Given the description of an element on the screen output the (x, y) to click on. 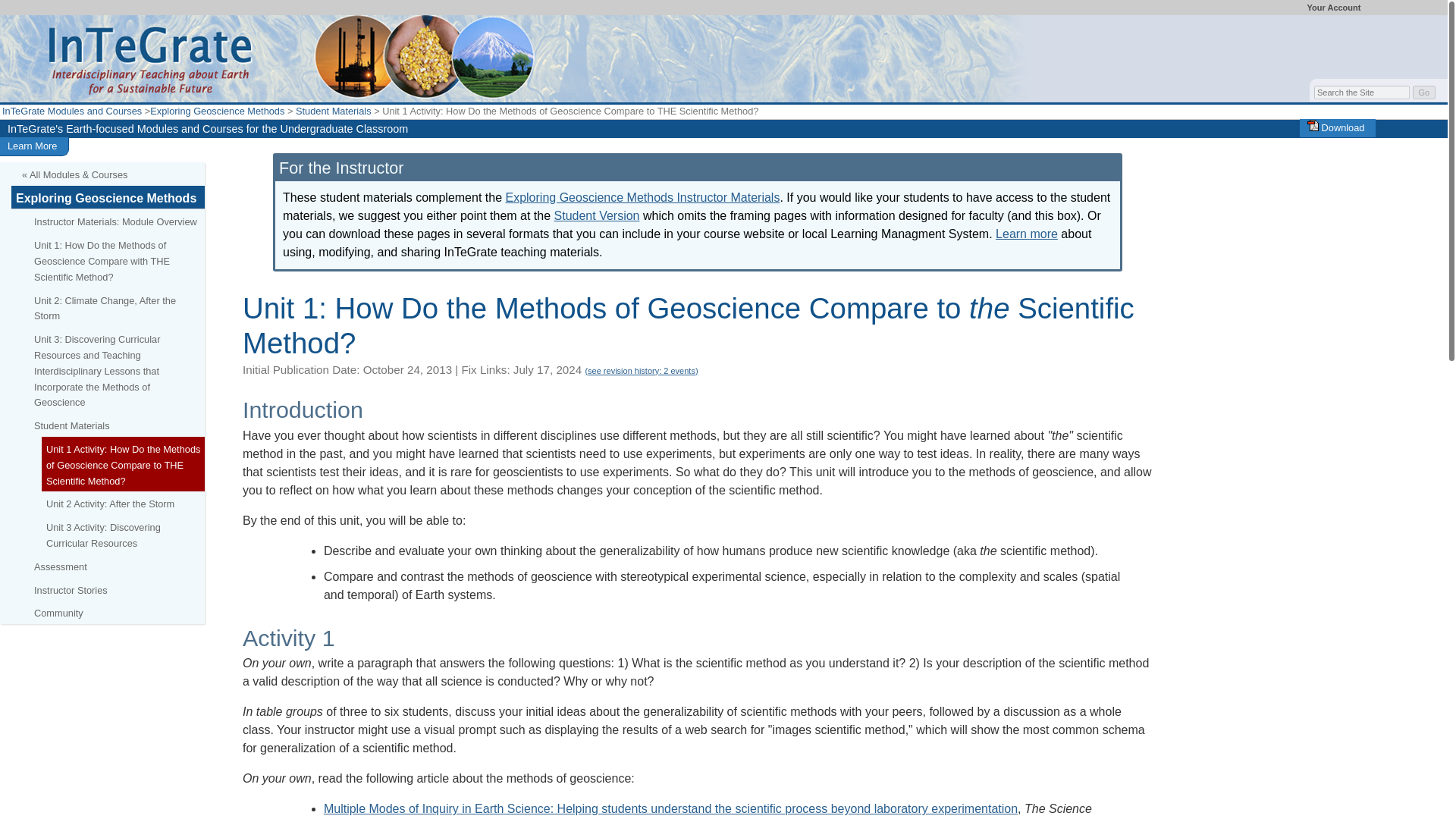
Learn more (1026, 233)
Exploring Geoscience Methods Instructor Materials (641, 196)
Learn More (31, 145)
Student Materials (333, 111)
Unit 2: Climate Change, After the Storm (117, 307)
Instructor Materials: Module Overview (117, 220)
Exploring Geoscience Methods (108, 197)
